Given the description of an element on the screen output the (x, y) to click on. 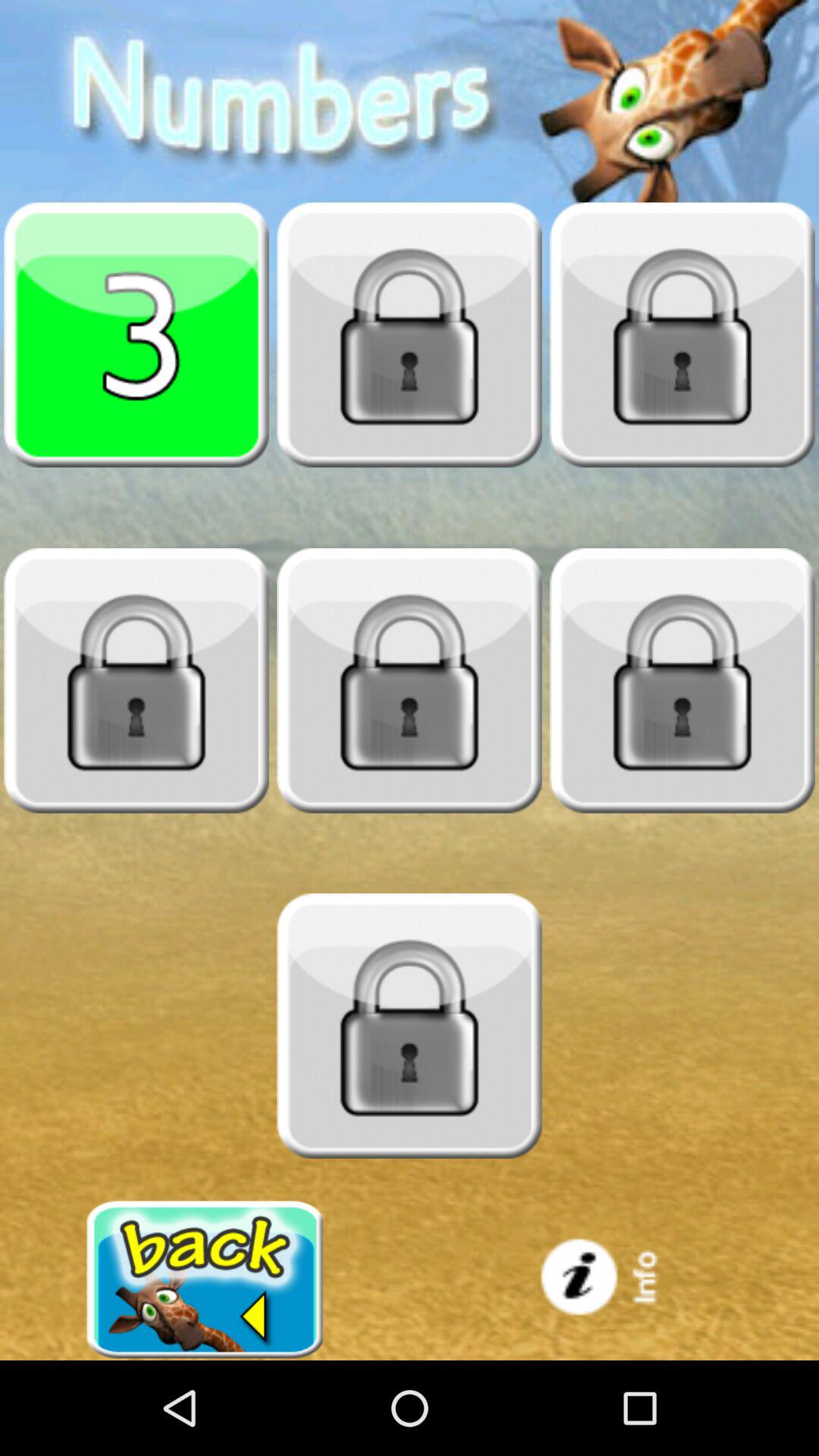
select locked level (136, 680)
